Given the description of an element on the screen output the (x, y) to click on. 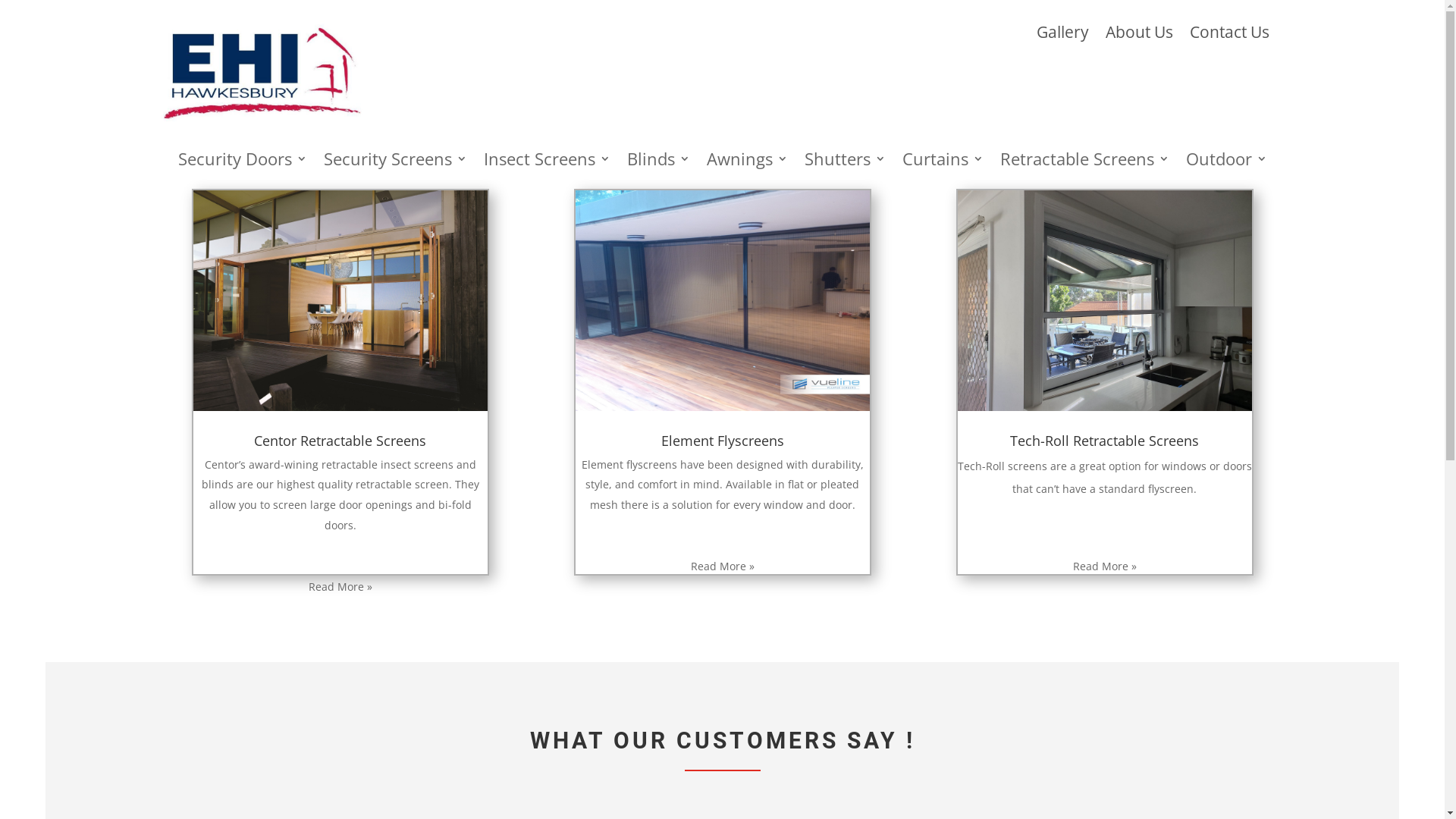
Security Screens Element type: text (394, 161)
Outdoor Element type: text (1226, 161)
Retractable Screens Element type: text (1083, 161)
Curtains Element type: text (942, 161)
Shutters Element type: text (843, 161)
About Us Element type: text (1139, 28)
Gallery Element type: text (1061, 28)
Insect Screens Element type: text (546, 161)
Blinds Element type: text (657, 161)
Awnings Element type: text (746, 161)
Contact Us Element type: text (1228, 28)
logo Element type: hover (261, 74)
Security Doors Element type: text (241, 161)
